Given the description of an element on the screen output the (x, y) to click on. 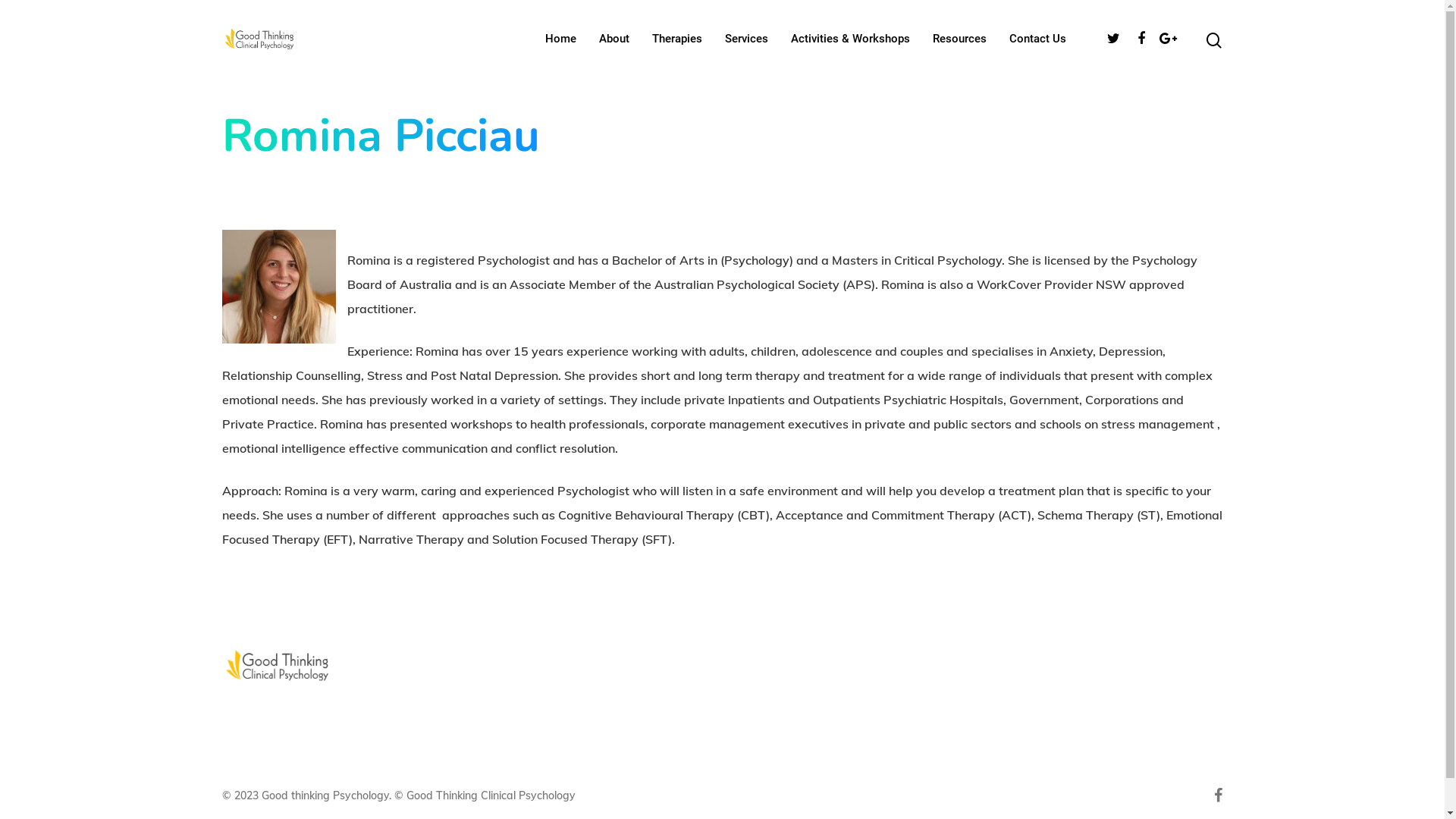
Activities & Workshops Element type: text (849, 38)
Resources Element type: text (959, 38)
Services Element type: text (746, 38)
Therapies Element type: text (677, 38)
About Element type: text (614, 38)
Contact Us Element type: text (1036, 38)
Home Element type: text (559, 38)
